Given the description of an element on the screen output the (x, y) to click on. 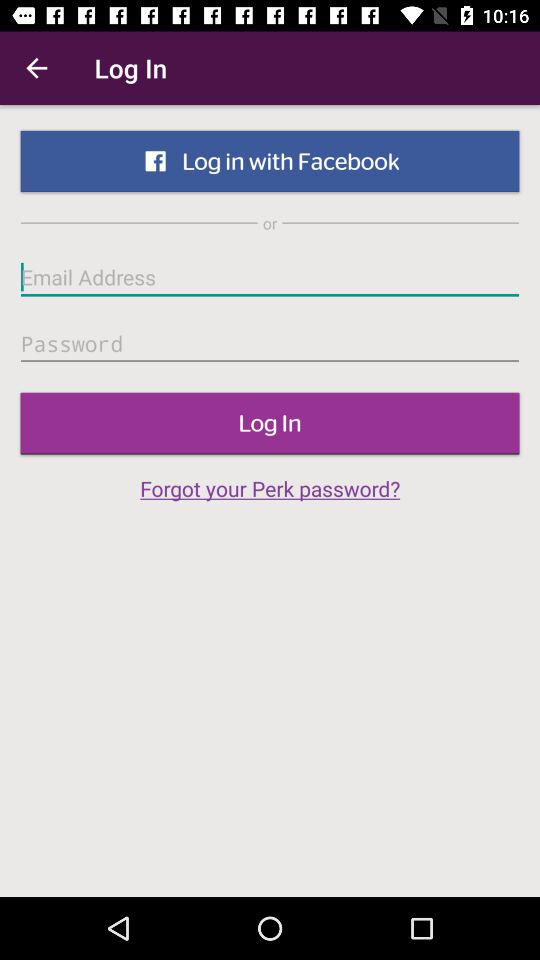
press icon next to log in (36, 68)
